Given the description of an element on the screen output the (x, y) to click on. 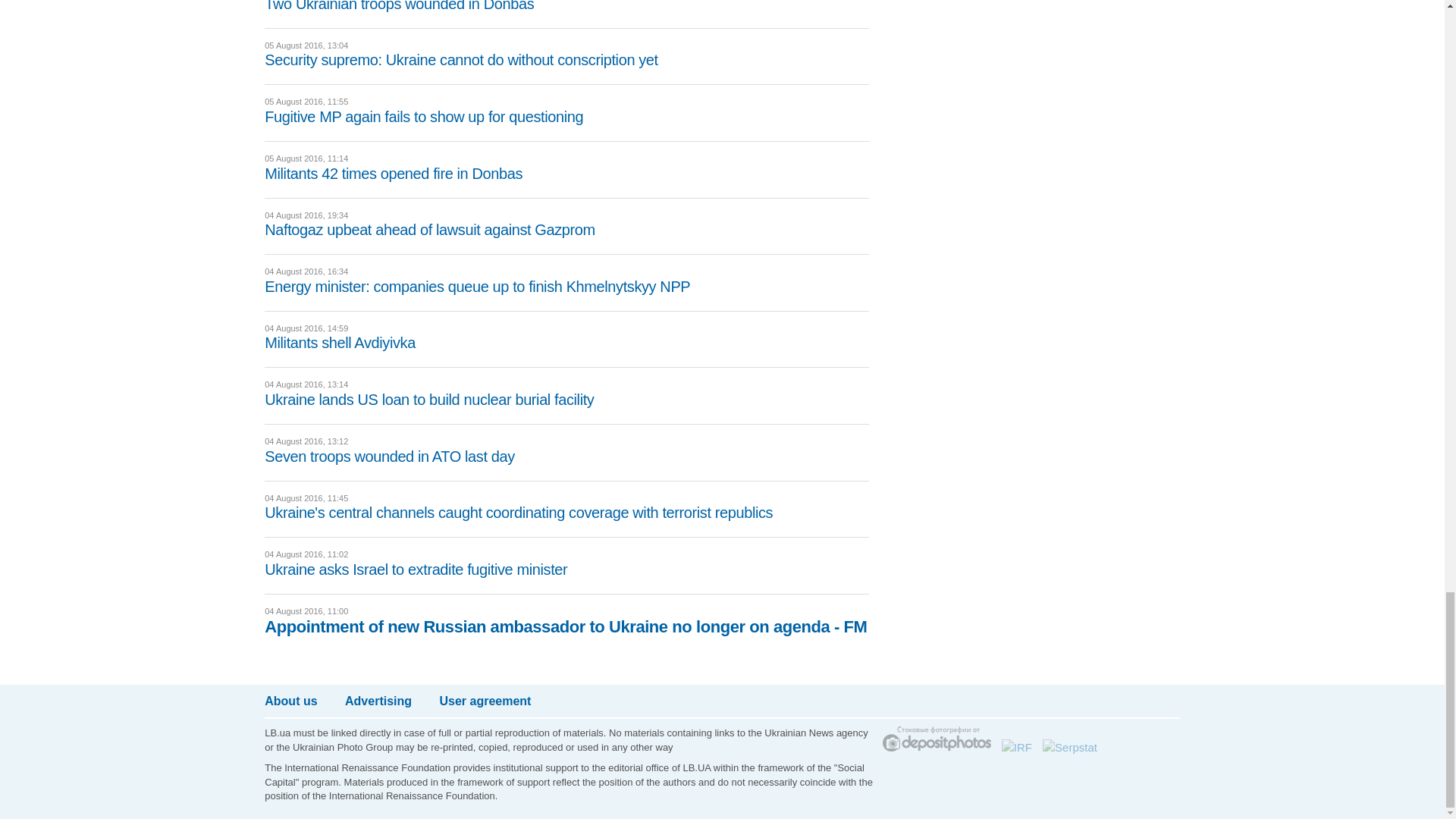
Militants 42 times opened fire in Donbas (393, 173)
Two Ukrainian troops wounded in Donbas (399, 6)
Militants shell Avdiyivka (339, 342)
Ukraine lands US loan to build nuclear burial facility (429, 399)
Fugitive MP again fails to show up for questioning (423, 116)
Naftogaz upbeat ahead of lawsuit against Gazprom (429, 229)
Security supremo: Ukraine cannot do without conscription yet (461, 59)
